Given the description of an element on the screen output the (x, y) to click on. 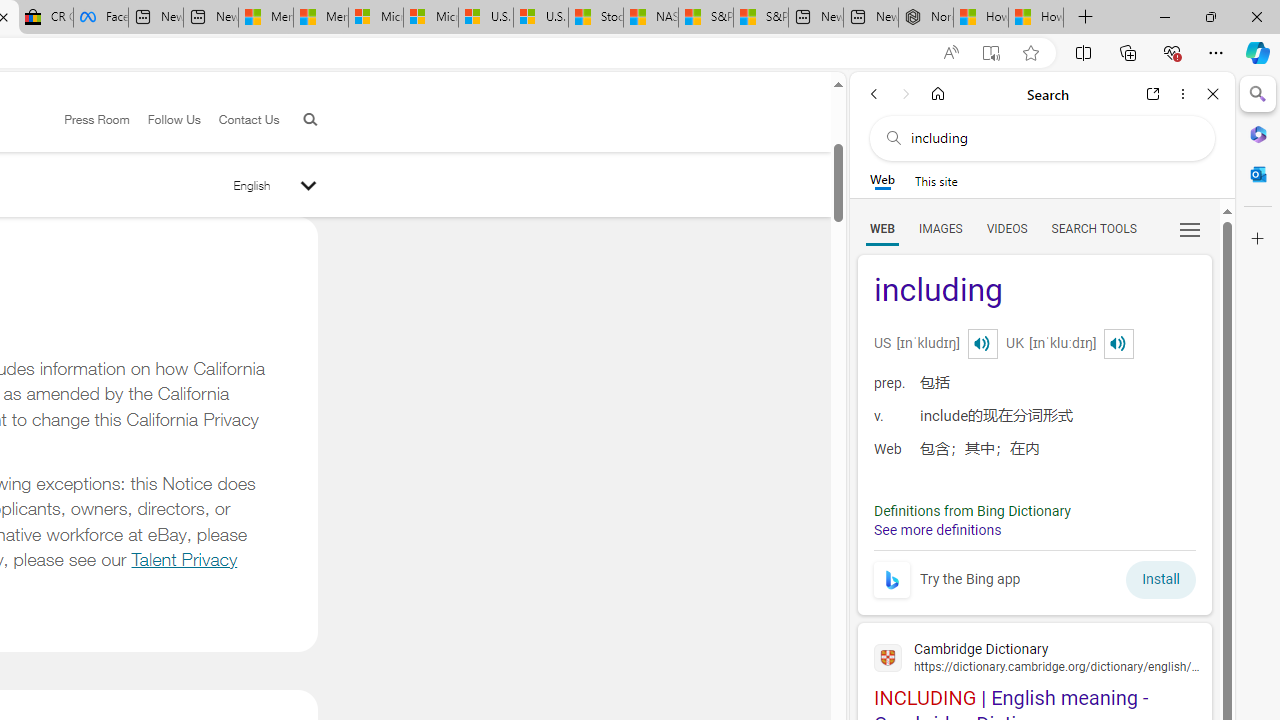
How to Use a Monitor With Your Closed Laptop (1035, 17)
Enter Immersive Reader (F9) (991, 53)
Search the web (1051, 137)
Preferences (1189, 228)
including (1034, 291)
Forward (906, 93)
Search Filter, Search Tools (1093, 228)
